Given the description of an element on the screen output the (x, y) to click on. 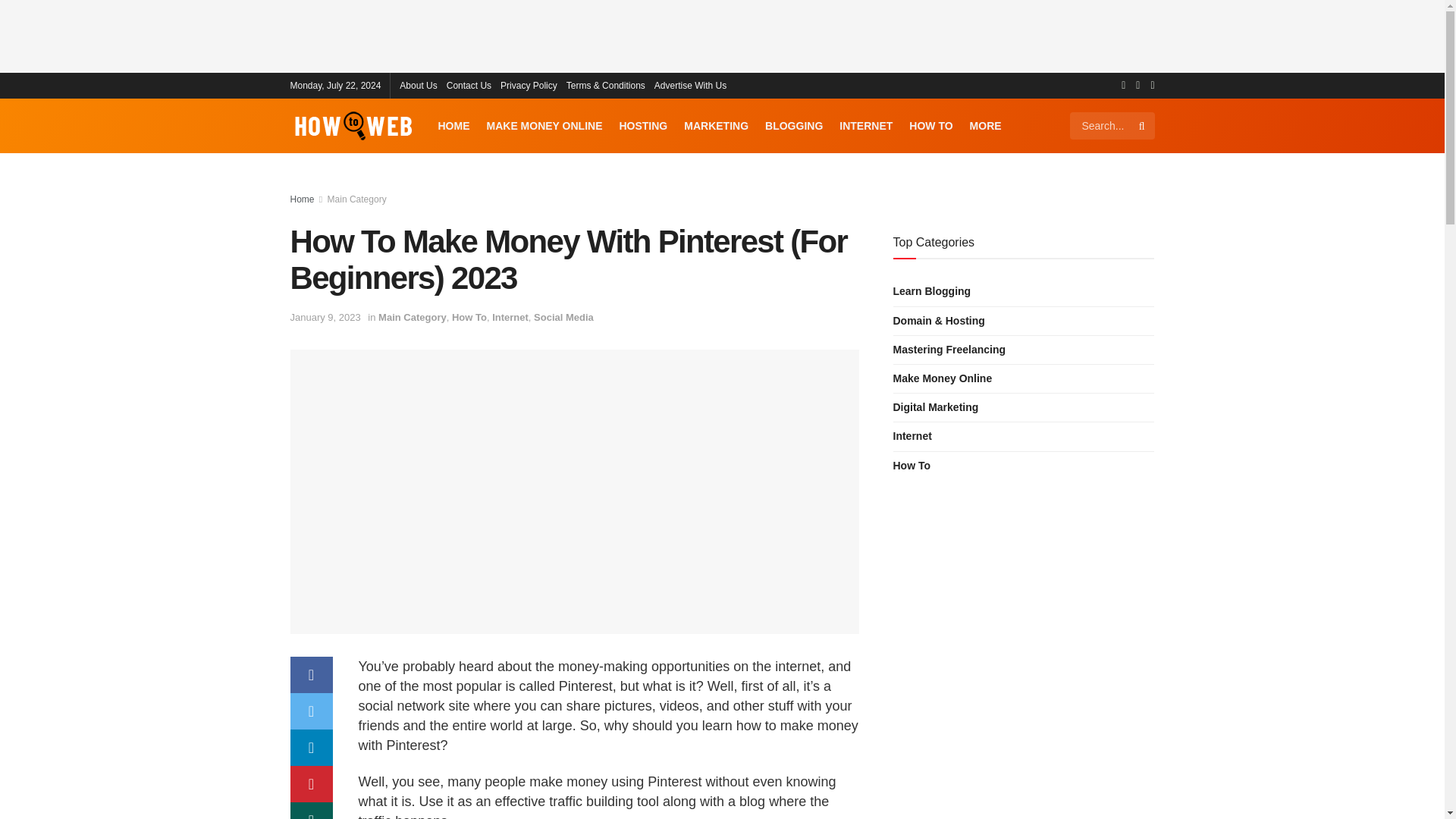
Contact Us (469, 85)
Main Category (357, 199)
INTERNET (866, 125)
MAKE MONEY ONLINE (544, 125)
MARKETING (716, 125)
HOSTING (642, 125)
Home (301, 199)
Privacy Policy (528, 85)
HOW TO (930, 125)
About Us (417, 85)
Advertise With Us (689, 85)
BLOGGING (793, 125)
MORE (985, 125)
January 9, 2023 (324, 317)
HOME (454, 125)
